Given the description of an element on the screen output the (x, y) to click on. 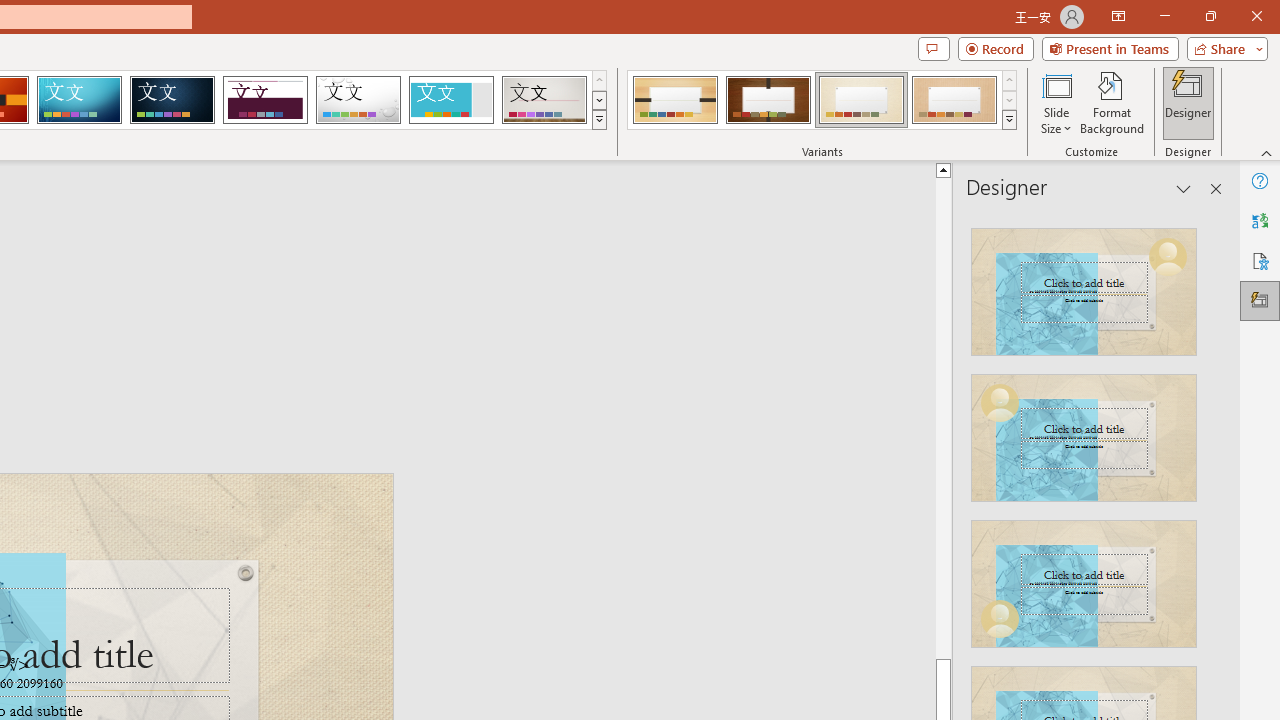
Organic Variant 2 (768, 100)
Organic Variant 1 (674, 100)
Organic Variant 4 (953, 100)
Damask (171, 100)
Recommended Design: Design Idea (1083, 286)
Frame (450, 100)
